Given the description of an element on the screen output the (x, y) to click on. 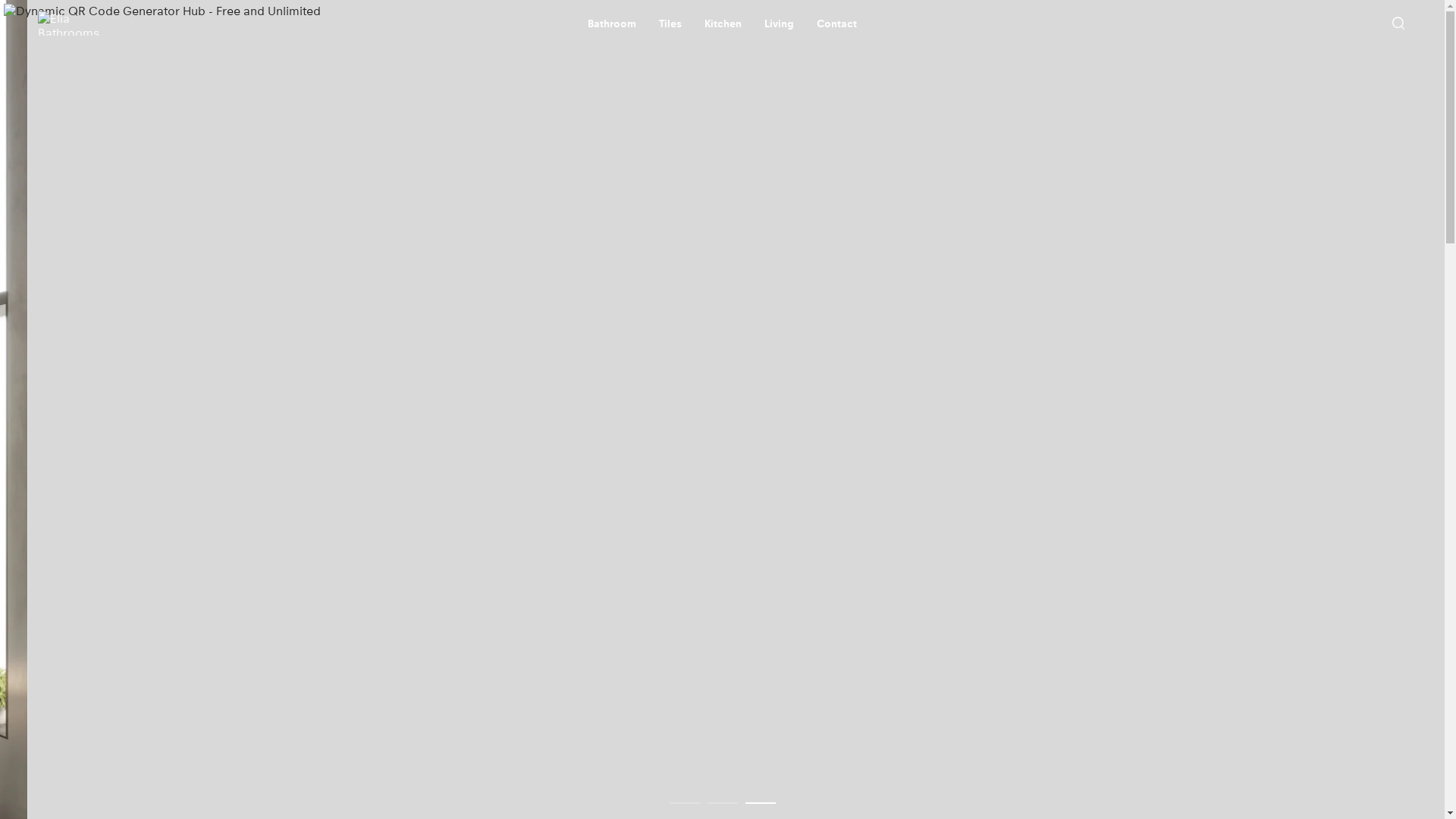
Bathroom Element type: text (611, 23)
Living Element type: text (779, 23)
Kitchen Element type: text (723, 23)
Tiles Element type: text (670, 23)
Contact Element type: text (836, 23)
Search Element type: text (1398, 23)
